Given the description of an element on the screen output the (x, y) to click on. 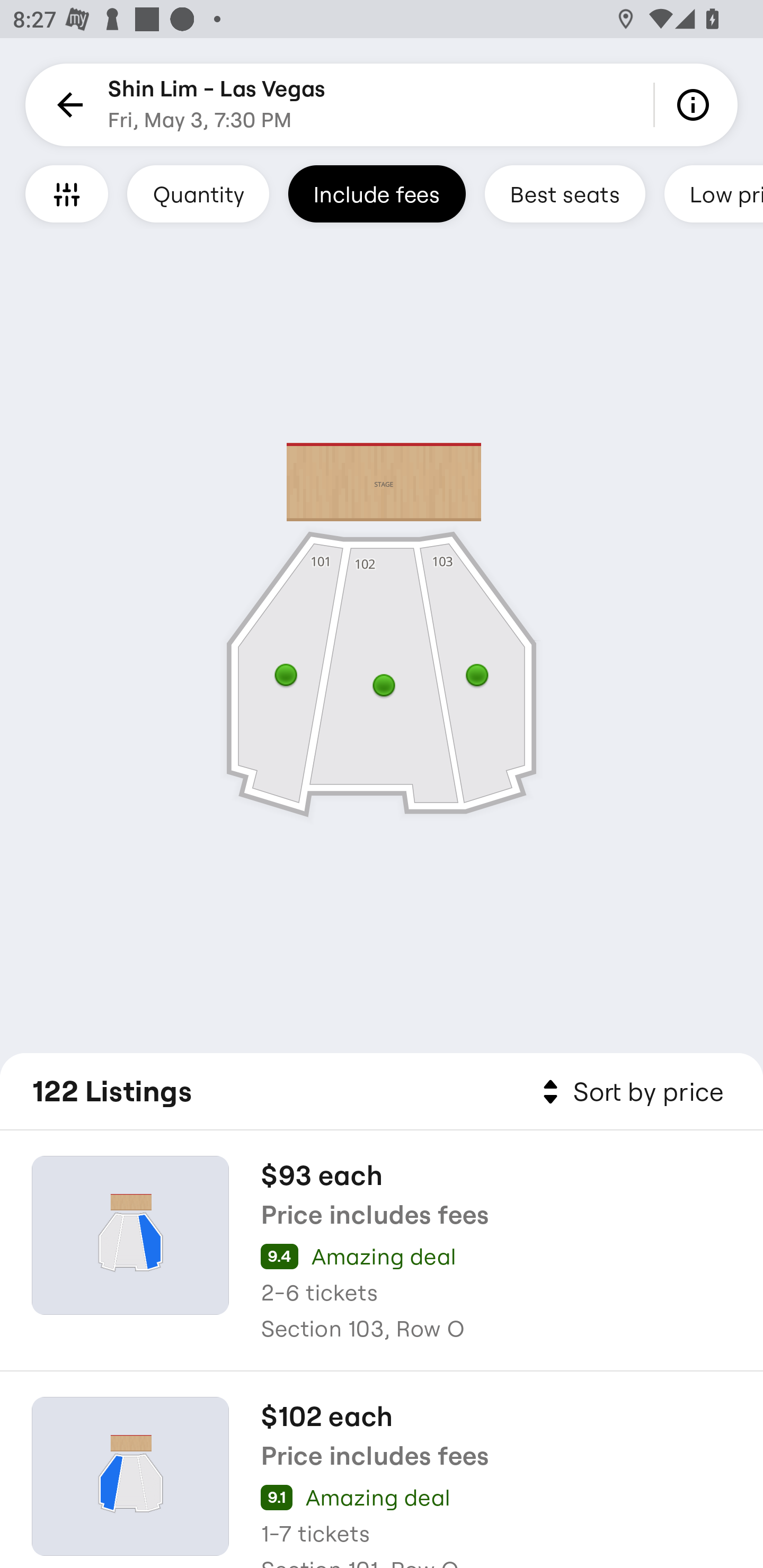
Back Shin Lim - Las Vegas Fri, May 3, 7:30 PM Info (381, 104)
Back (66, 104)
Shin Lim - Las Vegas Fri, May 3, 7:30 PM (216, 104)
Info (695, 104)
Filters and Accessible Seating (66, 193)
Quantity (198, 193)
Include fees (376, 193)
Best seats (564, 193)
Low prices (713, 193)
Sort by price (629, 1091)
